Given the description of an element on the screen output the (x, y) to click on. 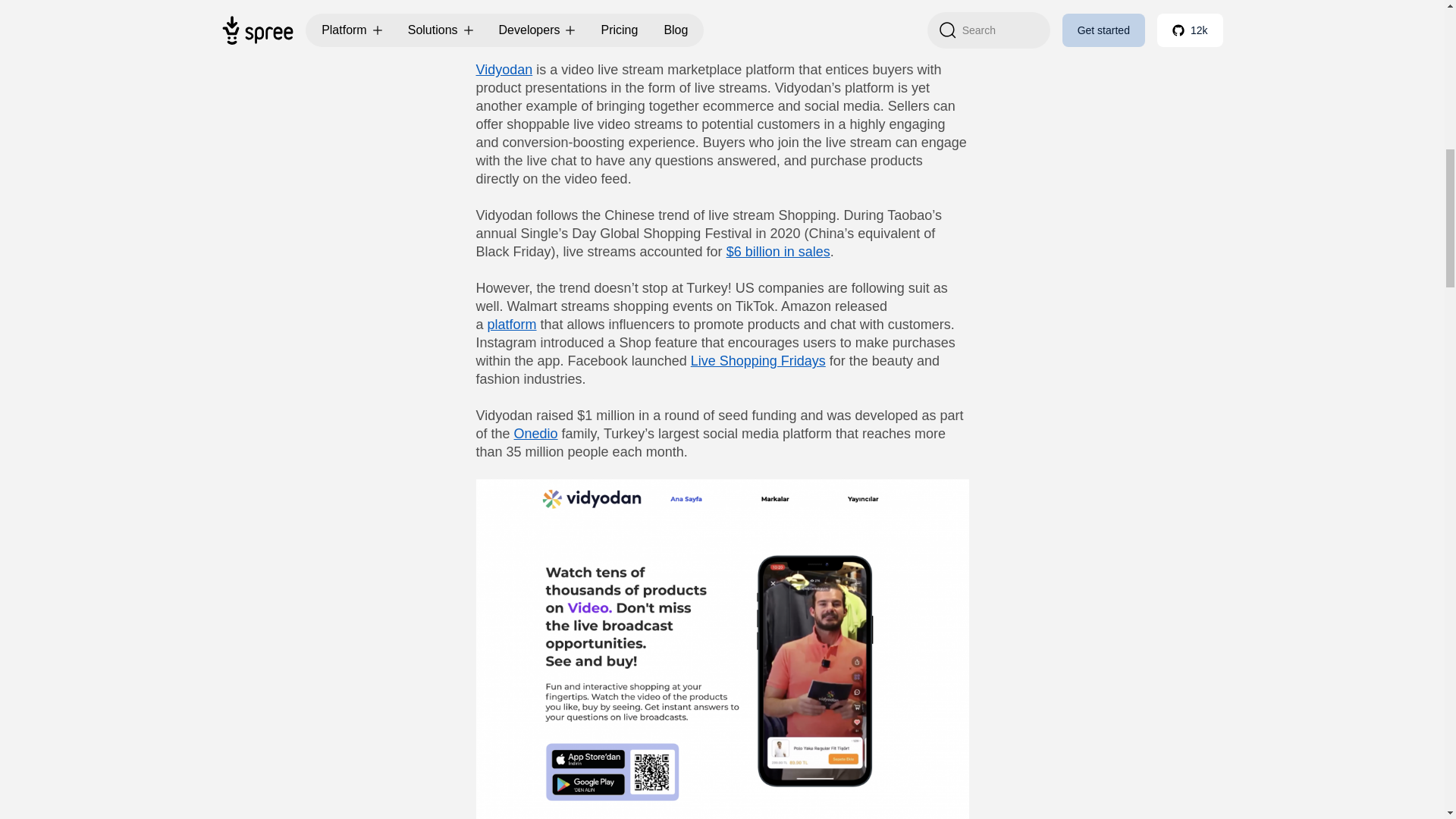
Onedio (535, 433)
Live Shopping Fridays (757, 360)
platform (512, 324)
Vidyodan (504, 69)
